Given the description of an element on the screen output the (x, y) to click on. 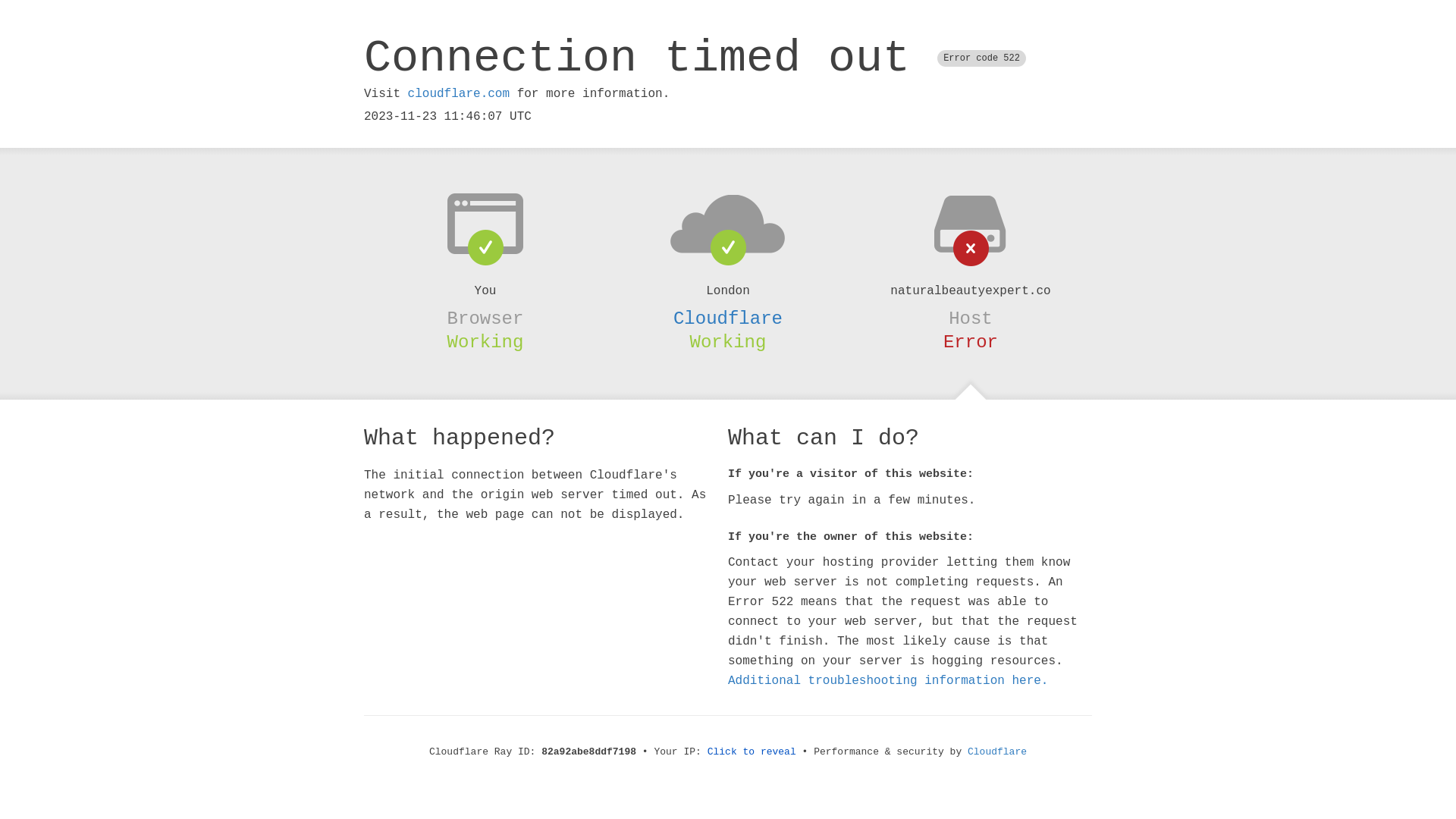
Cloudflare Element type: text (727, 318)
Cloudflare Element type: text (996, 751)
cloudflare.com Element type: text (458, 93)
Additional troubleshooting information here. Element type: text (888, 680)
Click to reveal Element type: text (751, 751)
